Given the description of an element on the screen output the (x, y) to click on. 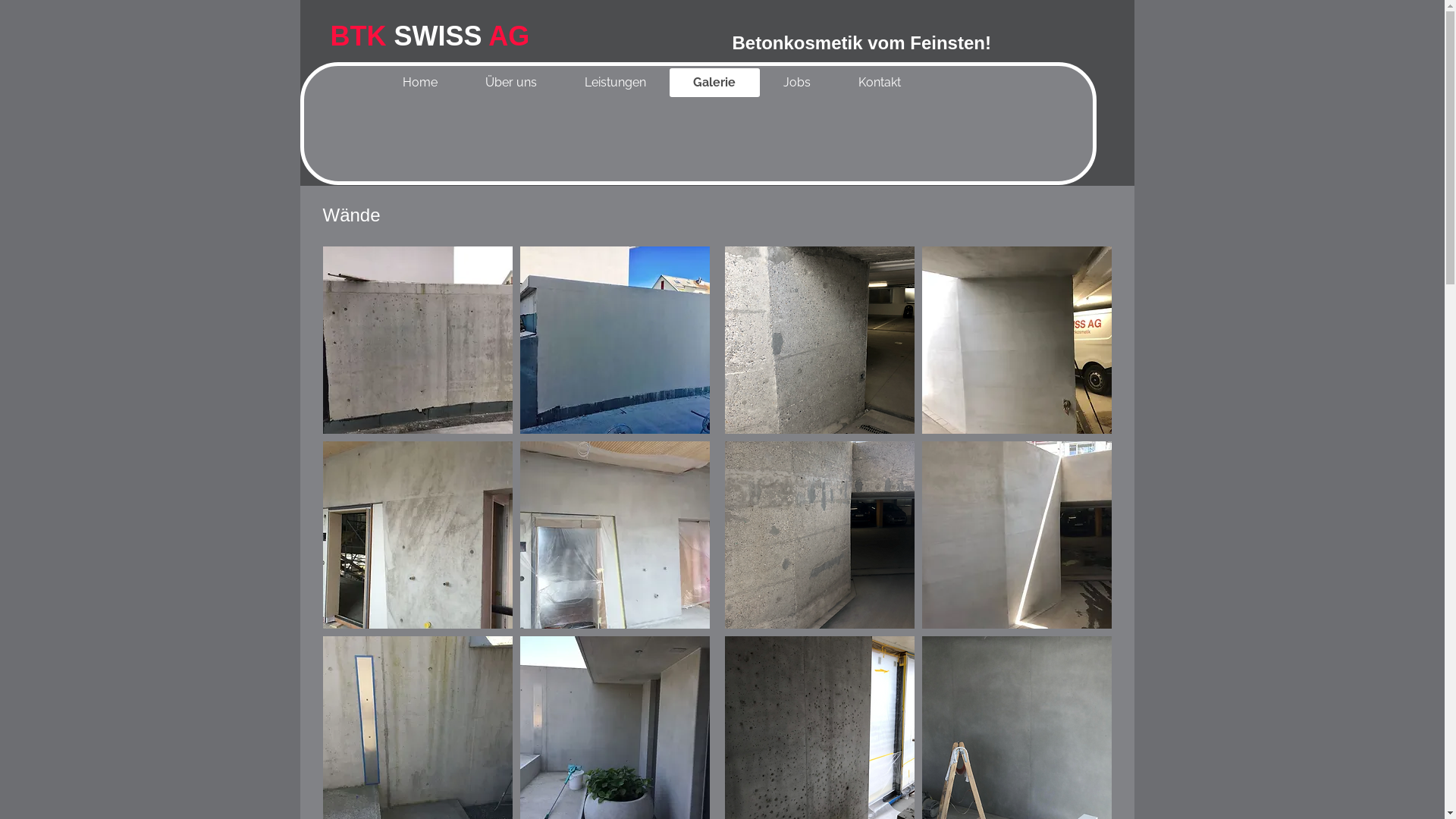
Leistungen Element type: text (614, 82)
Home Element type: text (420, 82)
Kontakt Element type: text (879, 82)
Galerie Element type: text (714, 82)
Jobs Element type: text (796, 82)
